Given the description of an element on the screen output the (x, y) to click on. 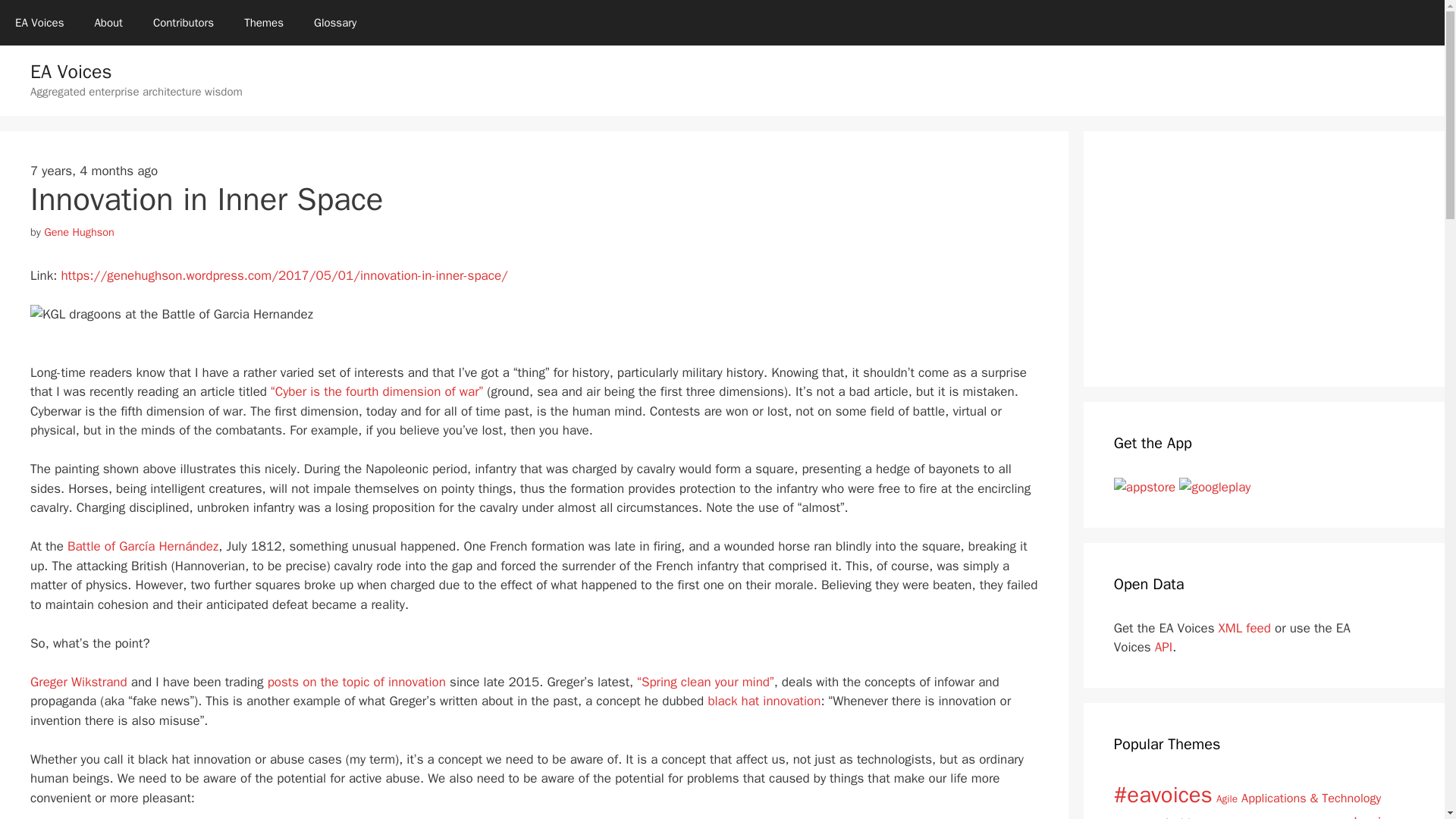
EA Voices (39, 22)
posts on the topic of innovation (356, 682)
Themes (263, 22)
black hat innovation (764, 700)
Contributors (183, 22)
Glossary (334, 22)
About (107, 22)
View all posts by Gene Hughson (79, 232)
Greger Wikstrand (79, 682)
Gene Hughson (79, 232)
